Given the description of an element on the screen output the (x, y) to click on. 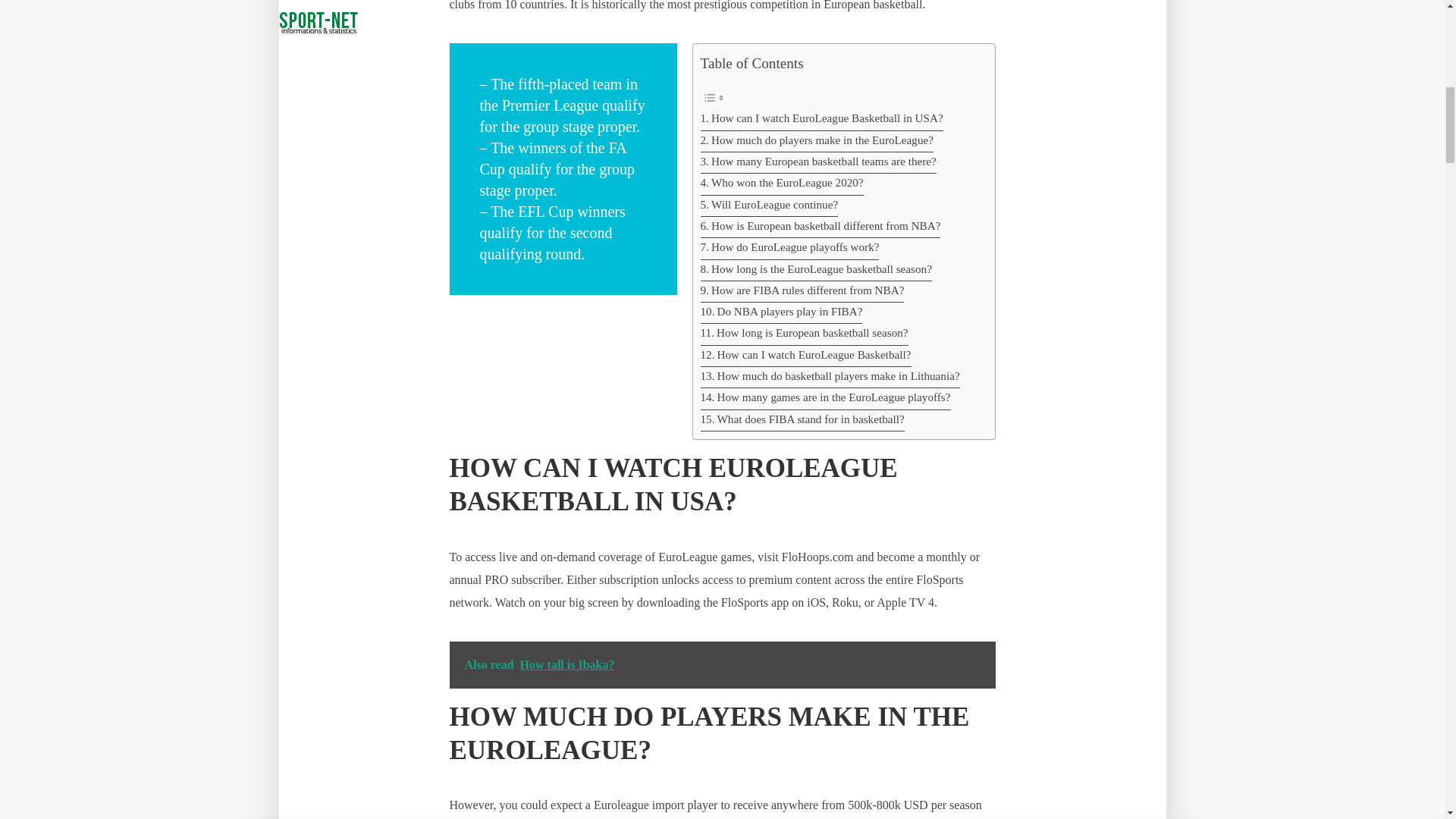
How can I watch EuroLeague Basketball in USA? (821, 119)
How long is the EuroLeague basketball season? (815, 270)
How are FIBA rules different from NBA? (802, 291)
How much do basketball players make in Lithuania? (829, 377)
Who won the EuroLeague 2020? (781, 183)
How long is European basketball season? (804, 333)
How many games are in the EuroLeague playoffs? (825, 398)
Also read  How tall is Ibaka? (721, 664)
How much do players make in the EuroLeague? (817, 141)
Will EuroLeague continue? (769, 206)
